Given the description of an element on the screen output the (x, y) to click on. 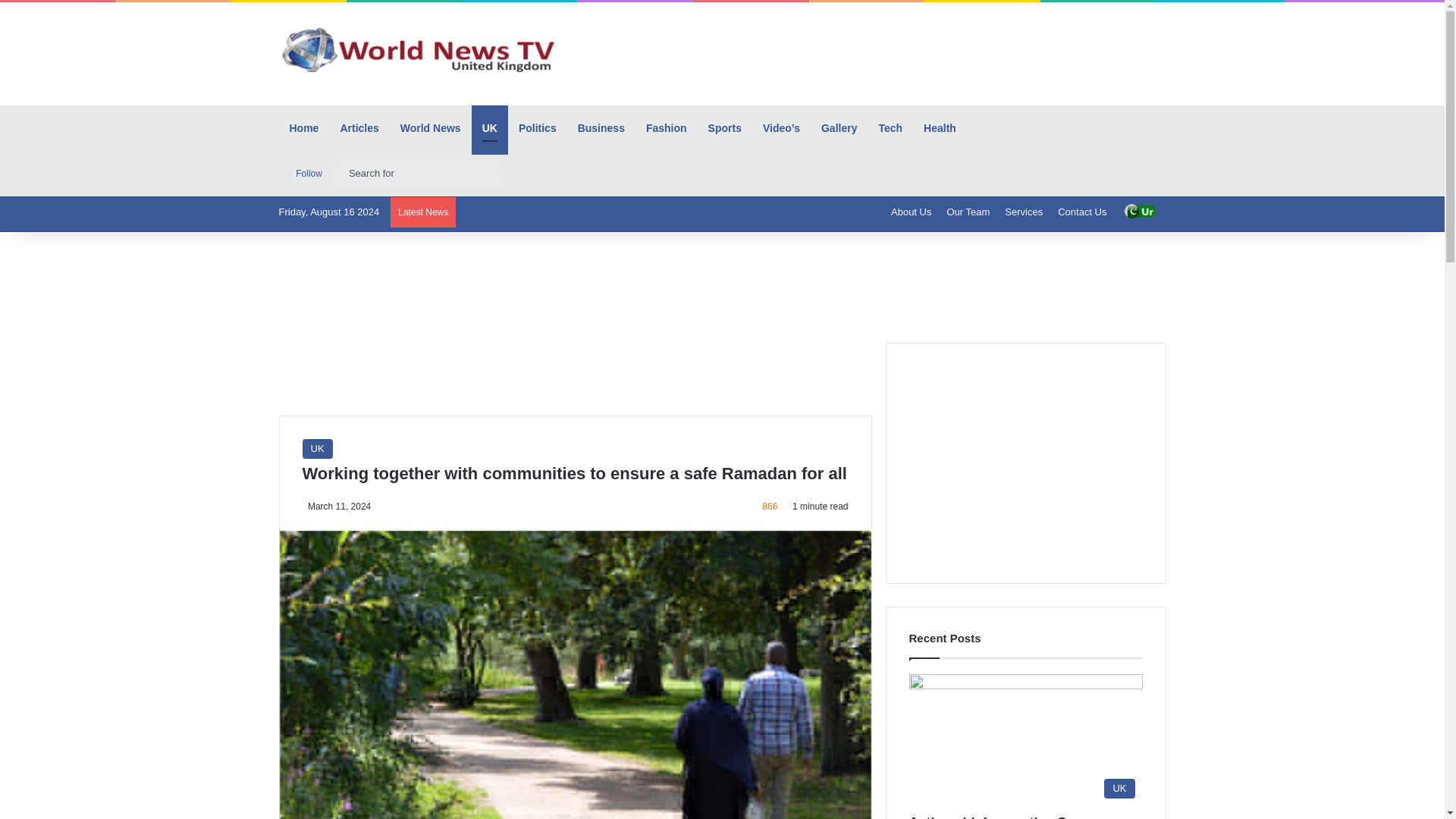
Services (1023, 212)
Articles (358, 127)
Tech (889, 127)
Home (304, 127)
World News (430, 127)
Business (600, 127)
Search for (486, 173)
Politics (537, 127)
Our Team (968, 212)
World News TV (419, 48)
